Given the description of an element on the screen output the (x, y) to click on. 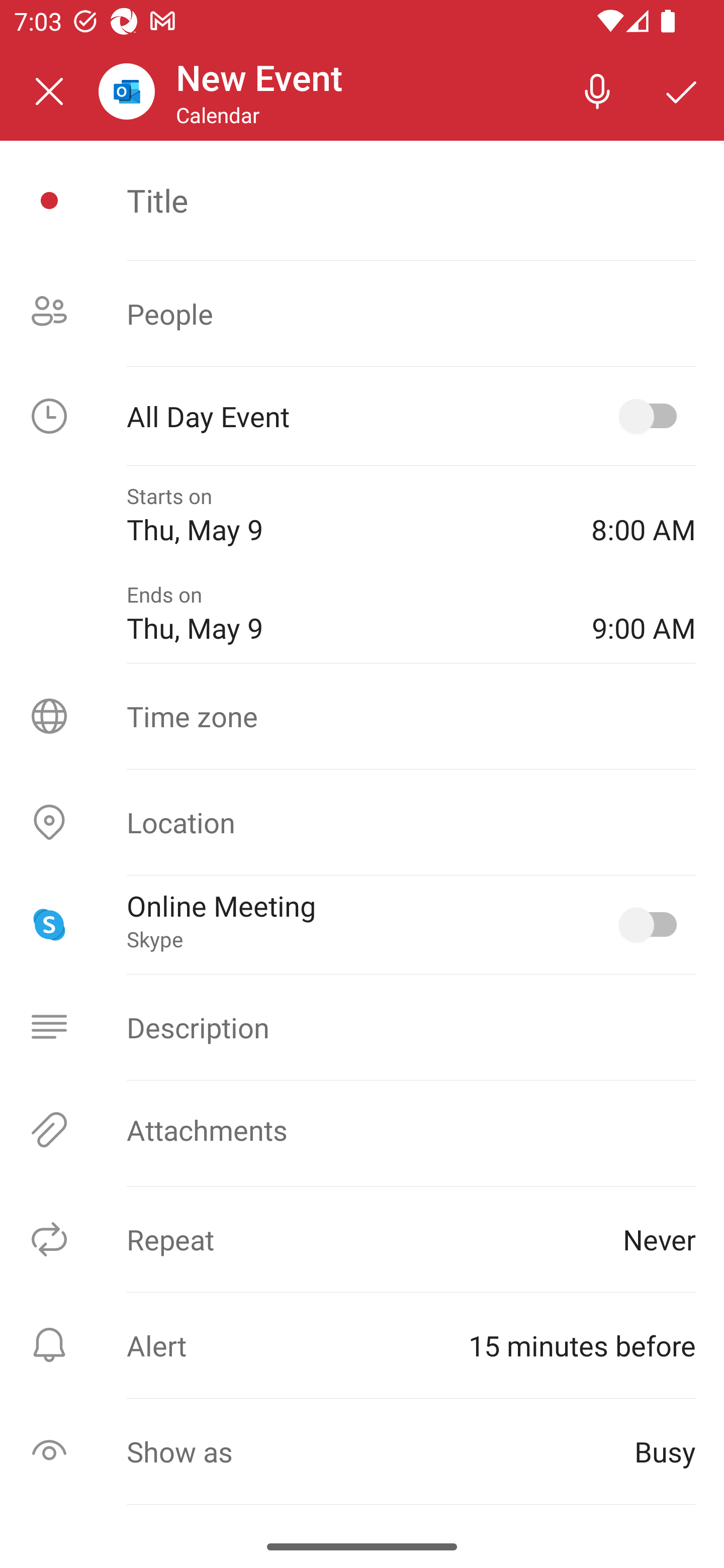
Close (49, 91)
Save (681, 90)
Title (410, 200)
Event icon picker (48, 200)
People (362, 313)
All Day Event (362, 415)
Starts on Thu, May 9 (344, 514)
8:00 AM (643, 514)
Ends on Thu, May 9 (344, 613)
9:00 AM (643, 613)
Time zone (362, 715)
Location (362, 821)
Online Meeting, Skype selected (651, 923)
Description (362, 1026)
Attachments (362, 1129)
Repeat Never (362, 1239)
Alert ⁨15 minutes before (362, 1345)
Show as Busy (362, 1450)
